Given the description of an element on the screen output the (x, y) to click on. 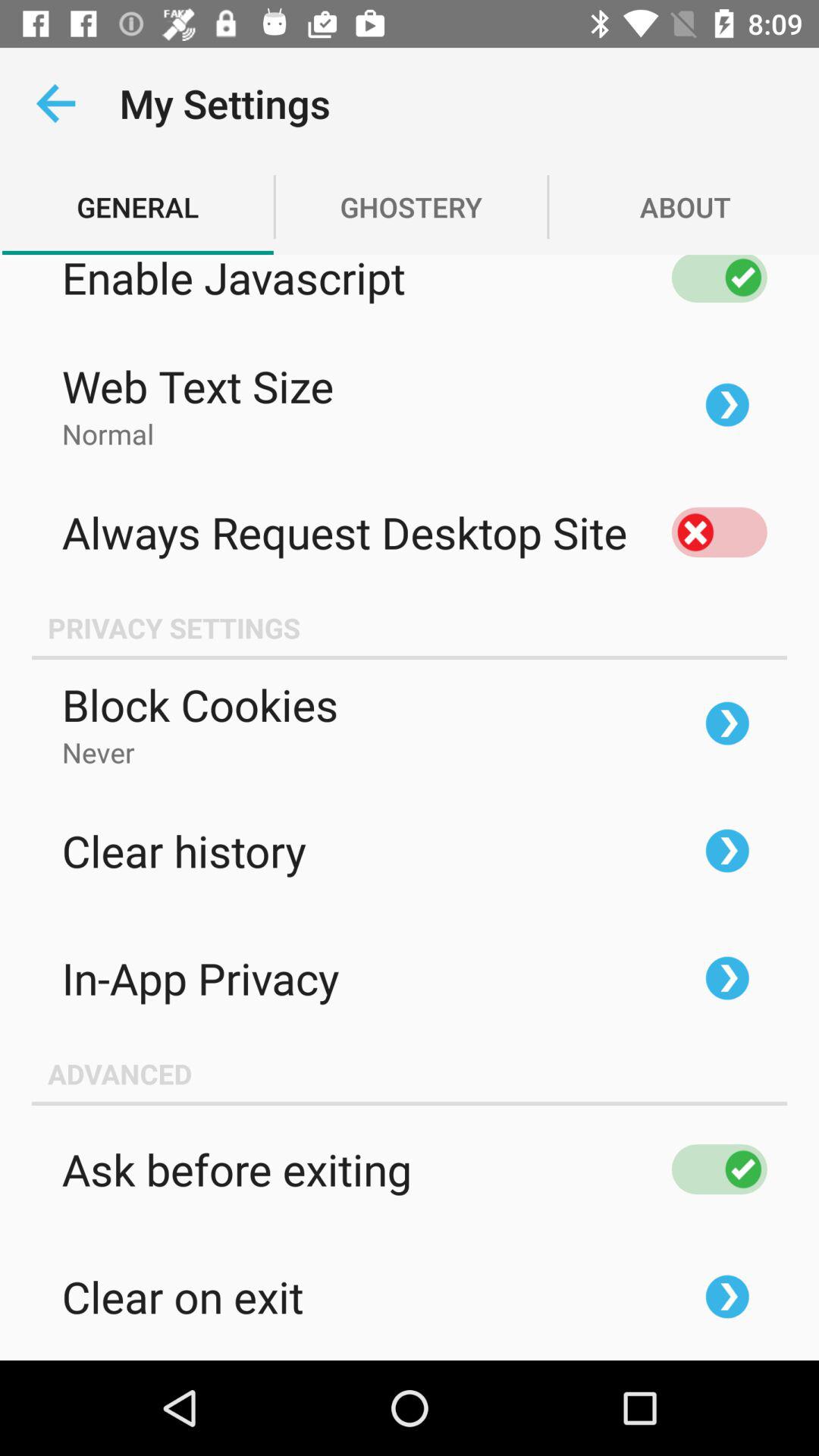
toggle switch off (719, 278)
